Given the description of an element on the screen output the (x, y) to click on. 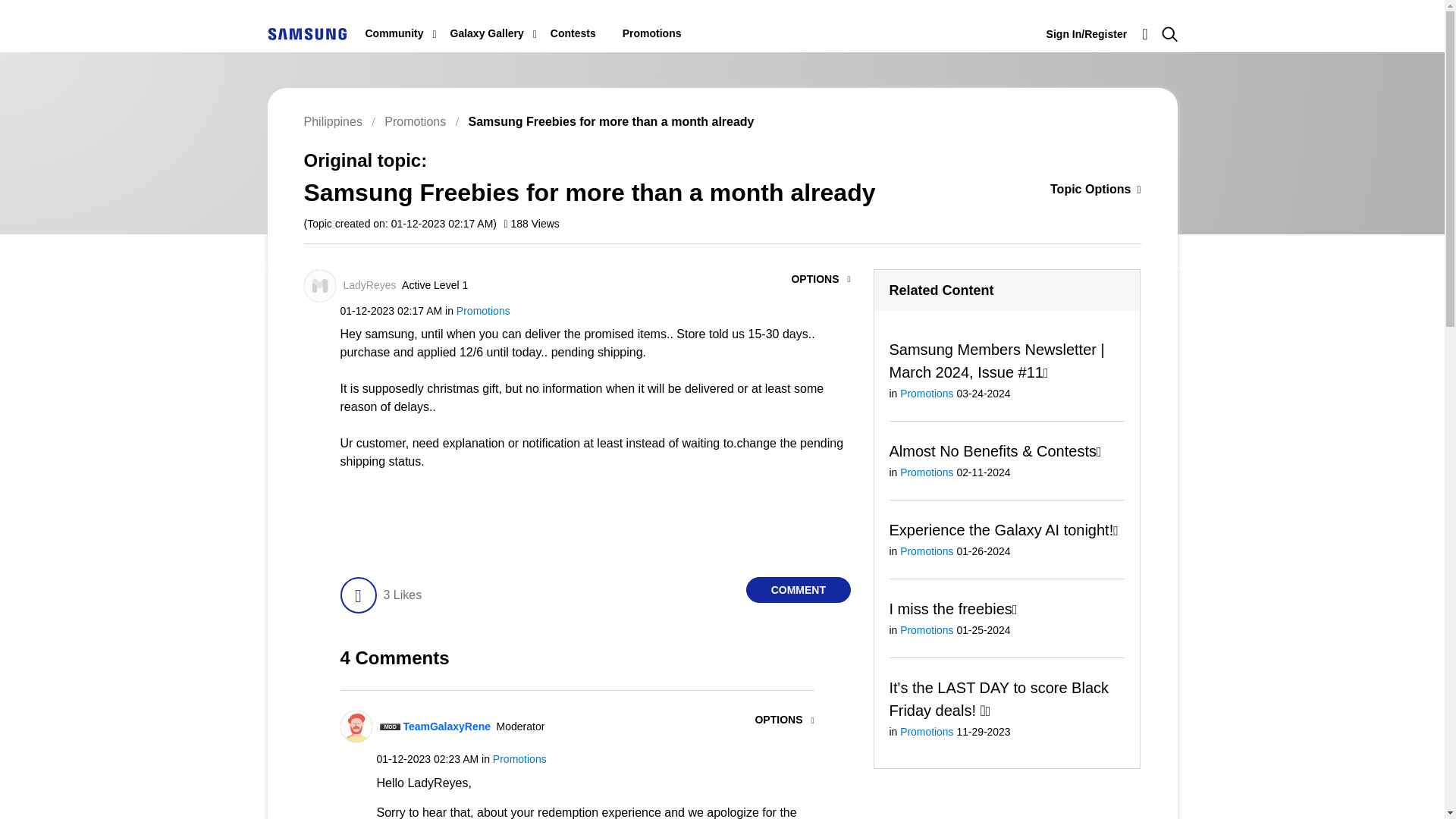
Contests (572, 33)
Contests (572, 33)
Galaxy Gallery (486, 33)
Promotions (414, 121)
Promotions (652, 33)
Community (394, 33)
Promotions (652, 33)
Philippines (306, 33)
Galaxy Gallery (486, 33)
Topic Options (1072, 189)
